Given the description of an element on the screen output the (x, y) to click on. 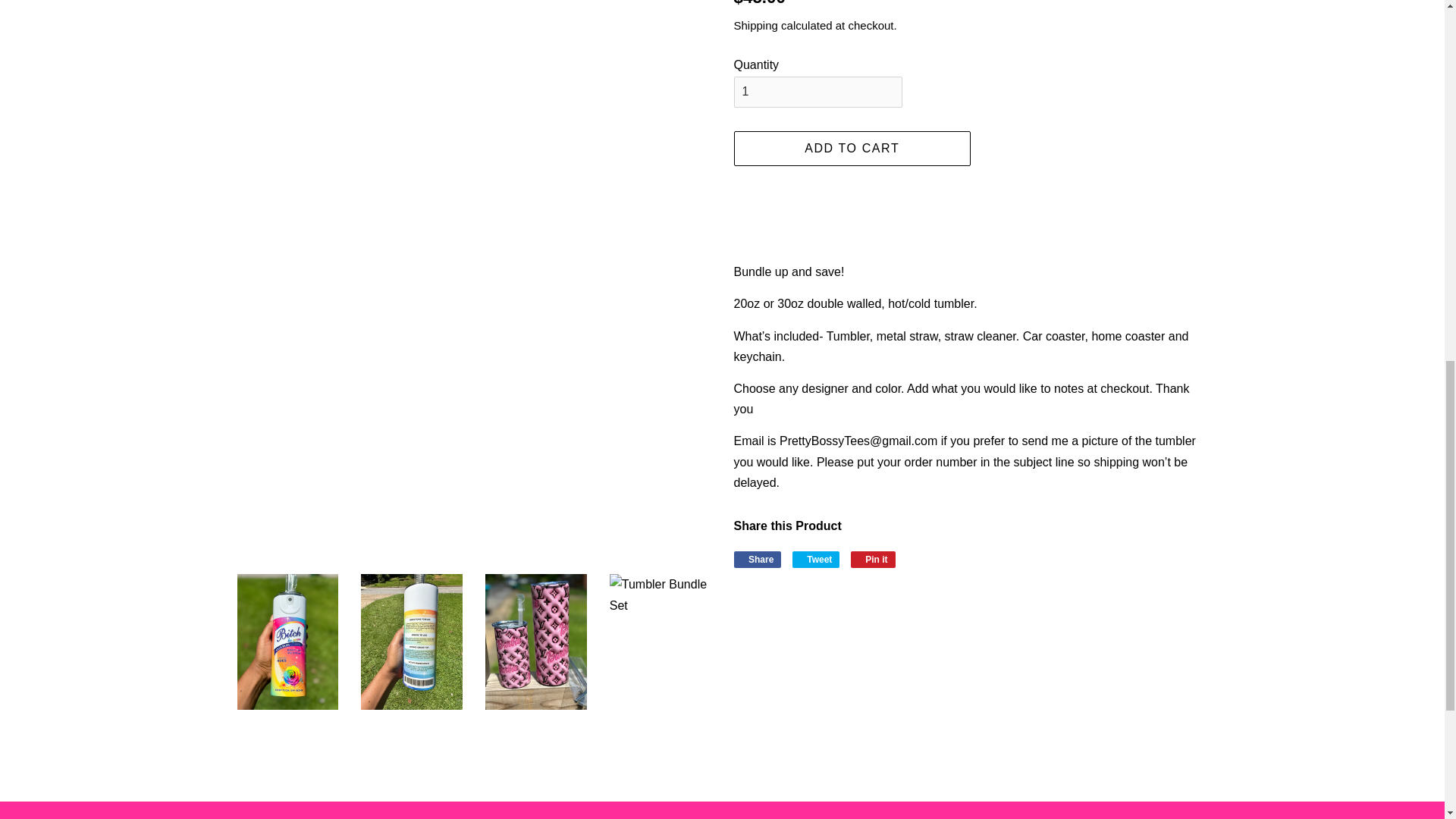
Share on Facebook (757, 559)
1 (817, 91)
Tweet on Twitter (816, 559)
Pin on Pinterest (872, 559)
